Given the description of an element on the screen output the (x, y) to click on. 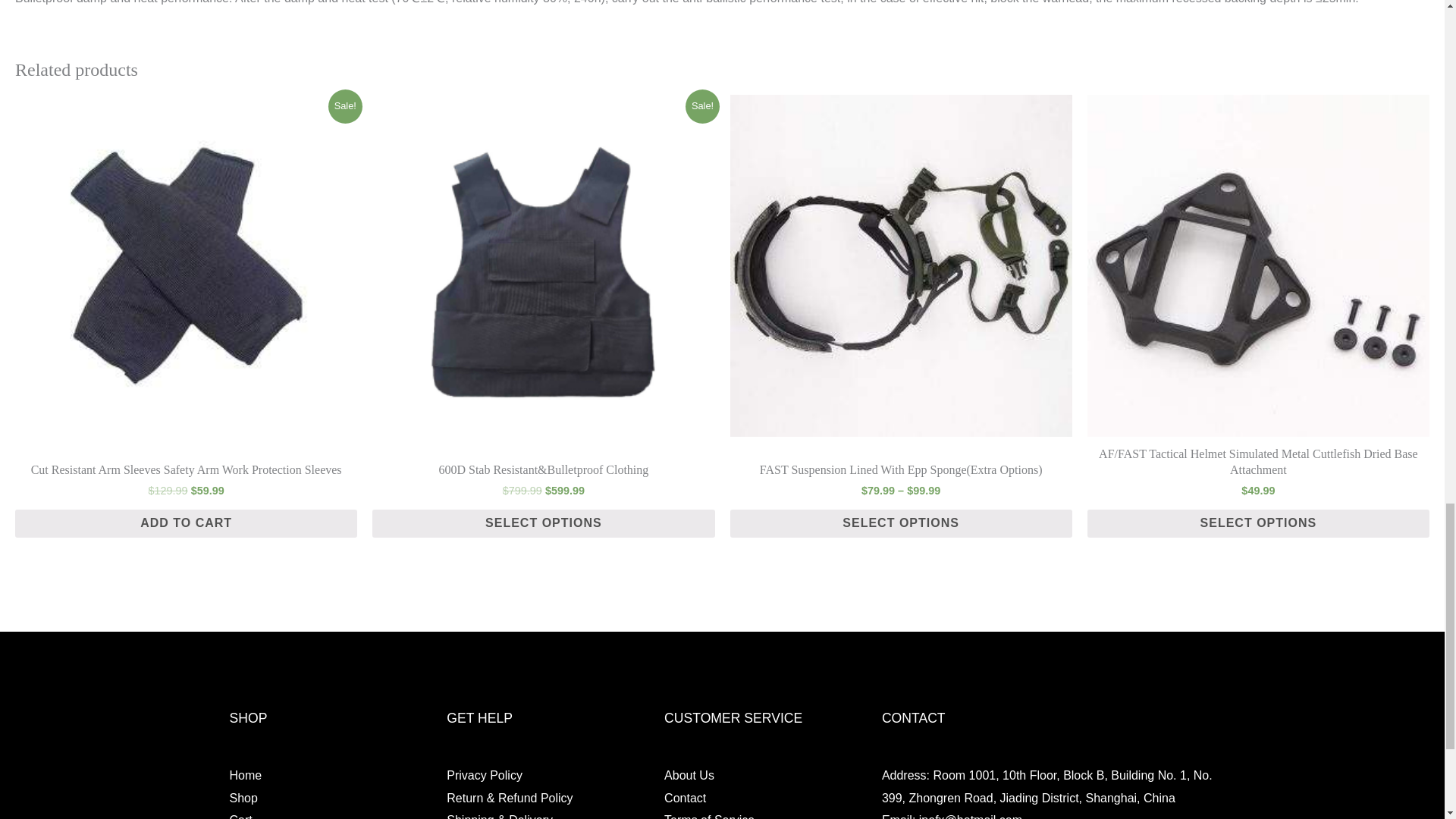
ADD TO CART (185, 523)
Cut Resistant Arm Sleeves Safety Arm Work Protection Sleeves (185, 470)
